Given the description of an element on the screen output the (x, y) to click on. 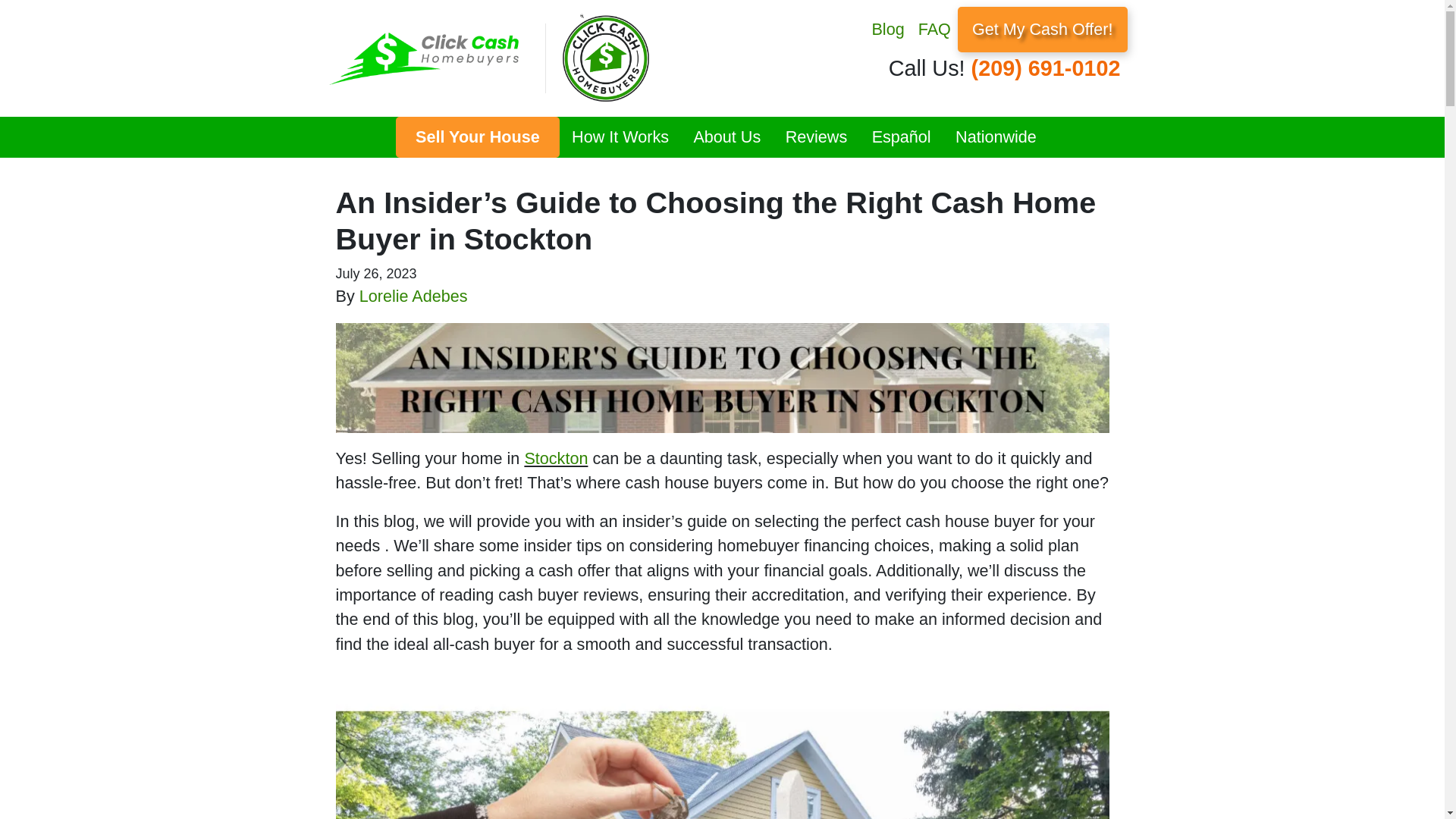
Lorelie Adebes (413, 295)
Sell Your House (477, 137)
Stockton (556, 457)
How It Works (620, 137)
Reviews (816, 137)
FAQ (934, 29)
Nationwide (995, 137)
Get My Cash Offer! (1042, 29)
About Us (727, 137)
